Given the description of an element on the screen output the (x, y) to click on. 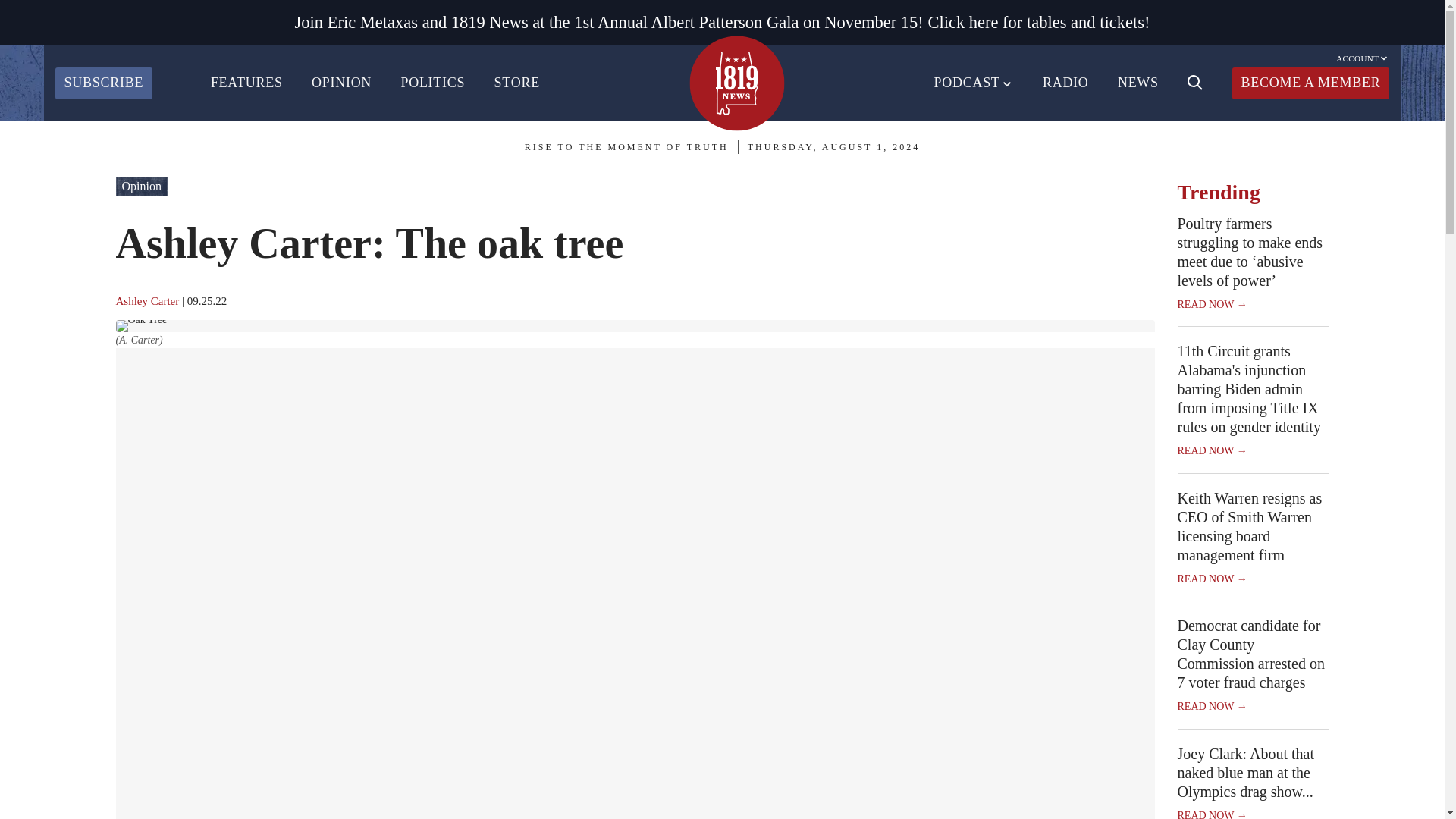
STORE (517, 83)
FEATURES (246, 83)
Opinion (141, 186)
NEWS (1138, 83)
Ashley Carter (147, 300)
HOMEPAGE (736, 83)
RADIO (1065, 83)
OPINION (341, 83)
PODCAST (973, 83)
POLITICS (432, 83)
SUBSCRIBE (103, 83)
BECOME A MEMBER (1310, 83)
